Given the description of an element on the screen output the (x, y) to click on. 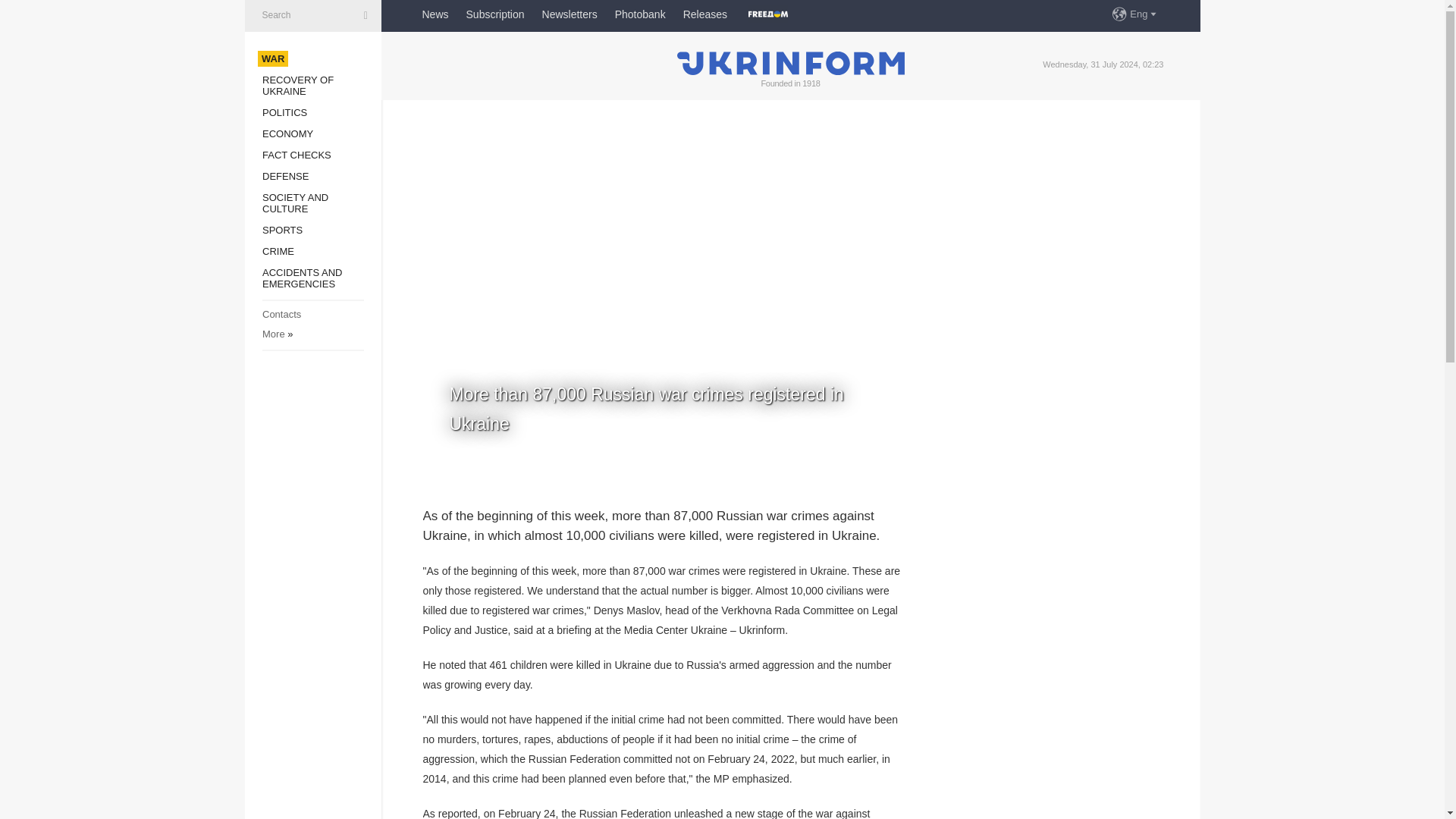
RECOVERY OF UKRAINE (297, 85)
More (273, 333)
ACCIDENTS AND EMERGENCIES (302, 277)
DEFENSE (285, 175)
Releases (704, 14)
WAR (272, 58)
POLITICS (284, 112)
More than 87,000 Russian war crimes registered in Ukraine (662, 355)
CRIME (278, 251)
FreeDOM (767, 14)
News (435, 14)
ECONOMY (287, 133)
SPORTS (282, 229)
Contacts (281, 314)
Subscription (494, 14)
